Given the description of an element on the screen output the (x, y) to click on. 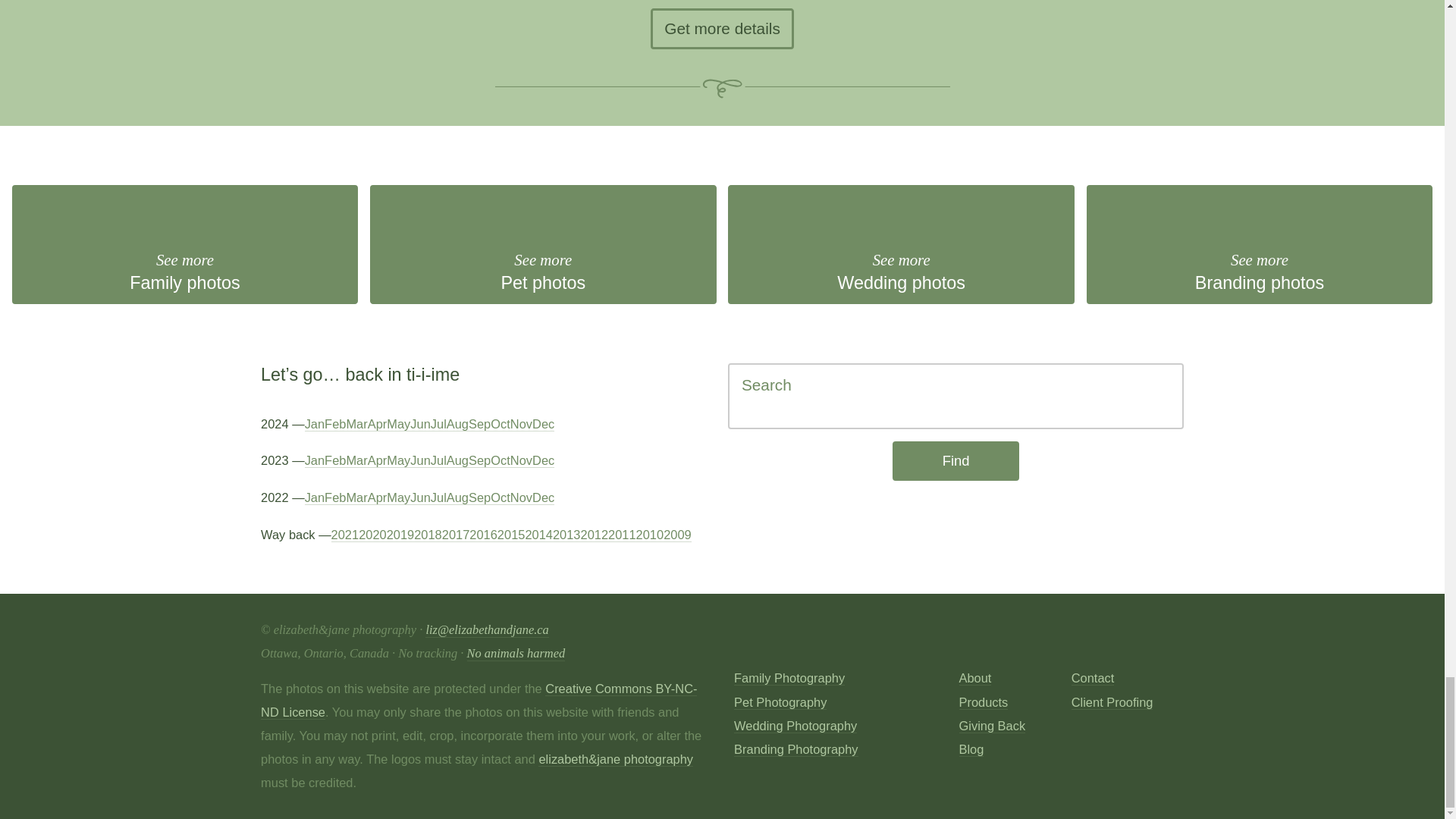
Jan (1259, 244)
Get more details (901, 244)
